Given the description of an element on the screen output the (x, y) to click on. 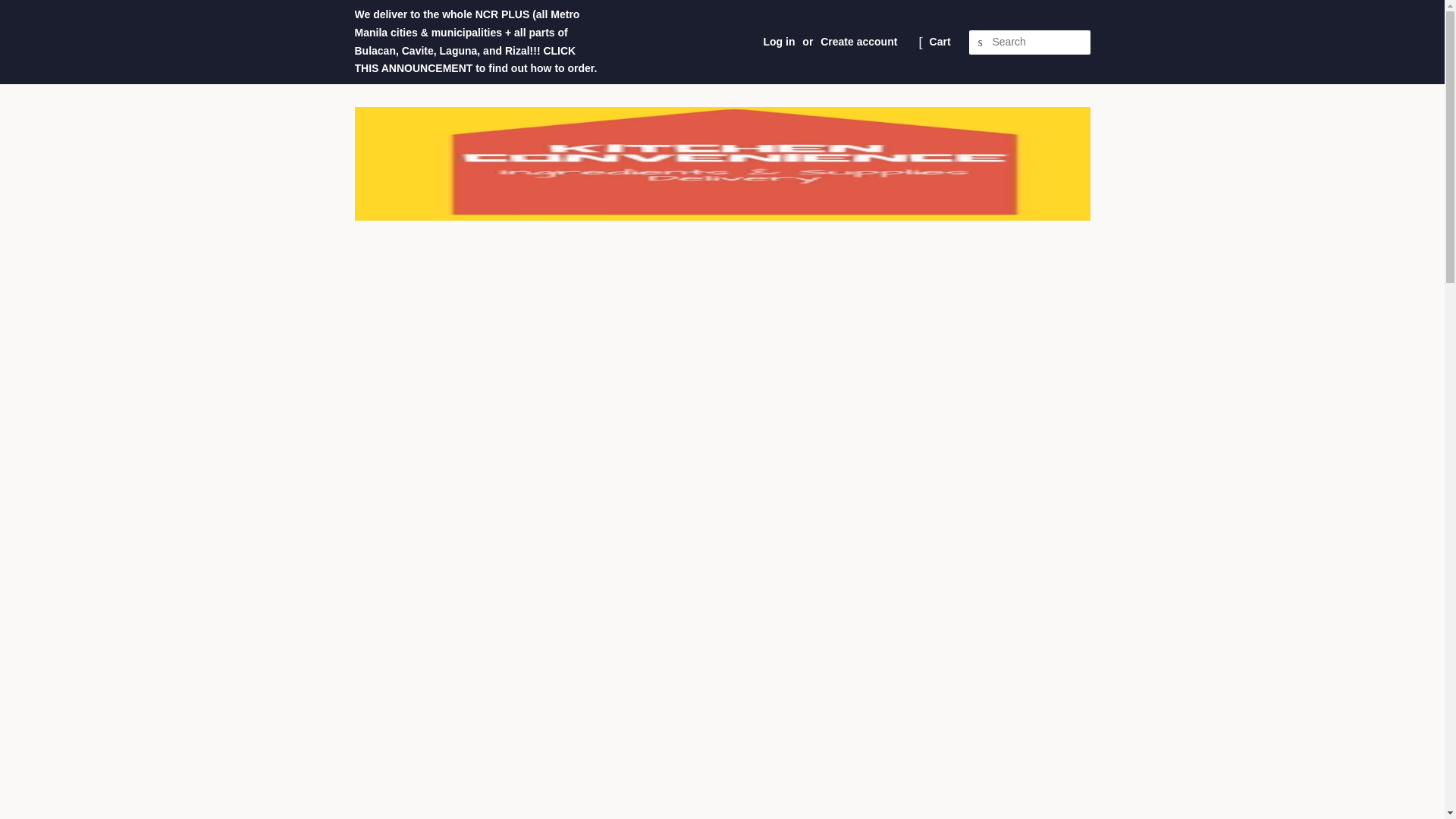
Create account (858, 41)
SEARCH (980, 42)
Cart (940, 42)
Log in (778, 41)
